Given the description of an element on the screen output the (x, y) to click on. 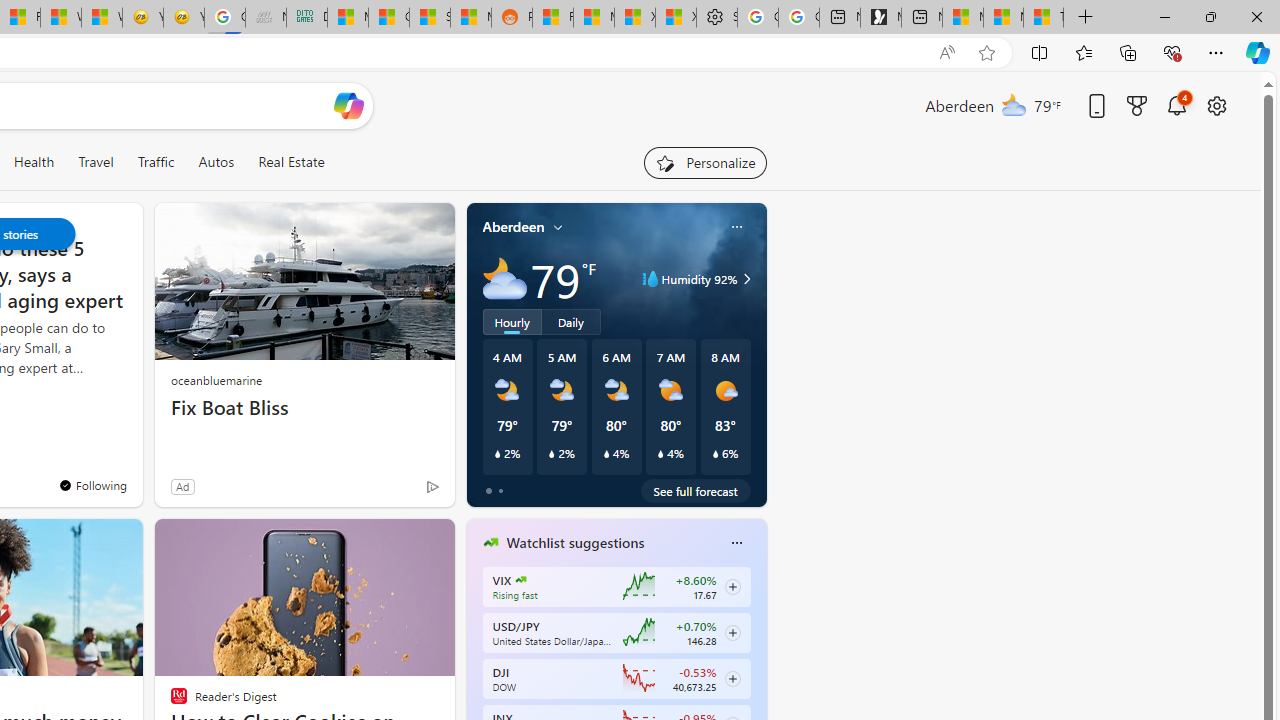
These 3 Stocks Pay You More Than 5% to Own Them (1043, 17)
R******* | Trusted Community Engagement and Contributions (552, 17)
Watchlist suggestions (575, 543)
Daily (571, 321)
Real Estate (290, 162)
